Given the description of an element on the screen output the (x, y) to click on. 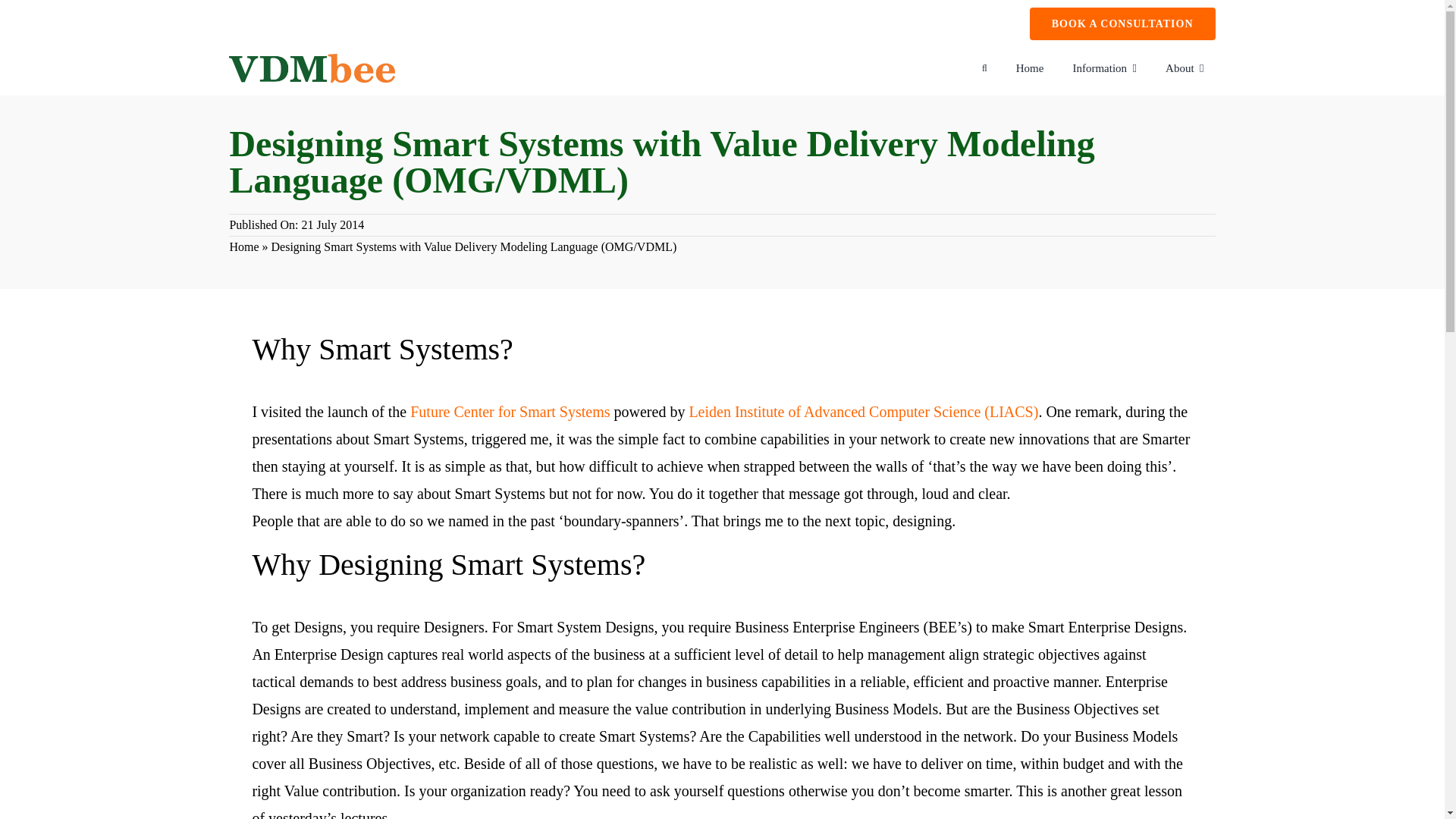
LIACS home page (863, 411)
About (1184, 68)
Search (984, 68)
BOOK A CONSULTATION (1122, 23)
Book a consultation (1122, 23)
Home (1029, 68)
Future Center home page (510, 411)
Information (1104, 68)
